Given the description of an element on the screen output the (x, y) to click on. 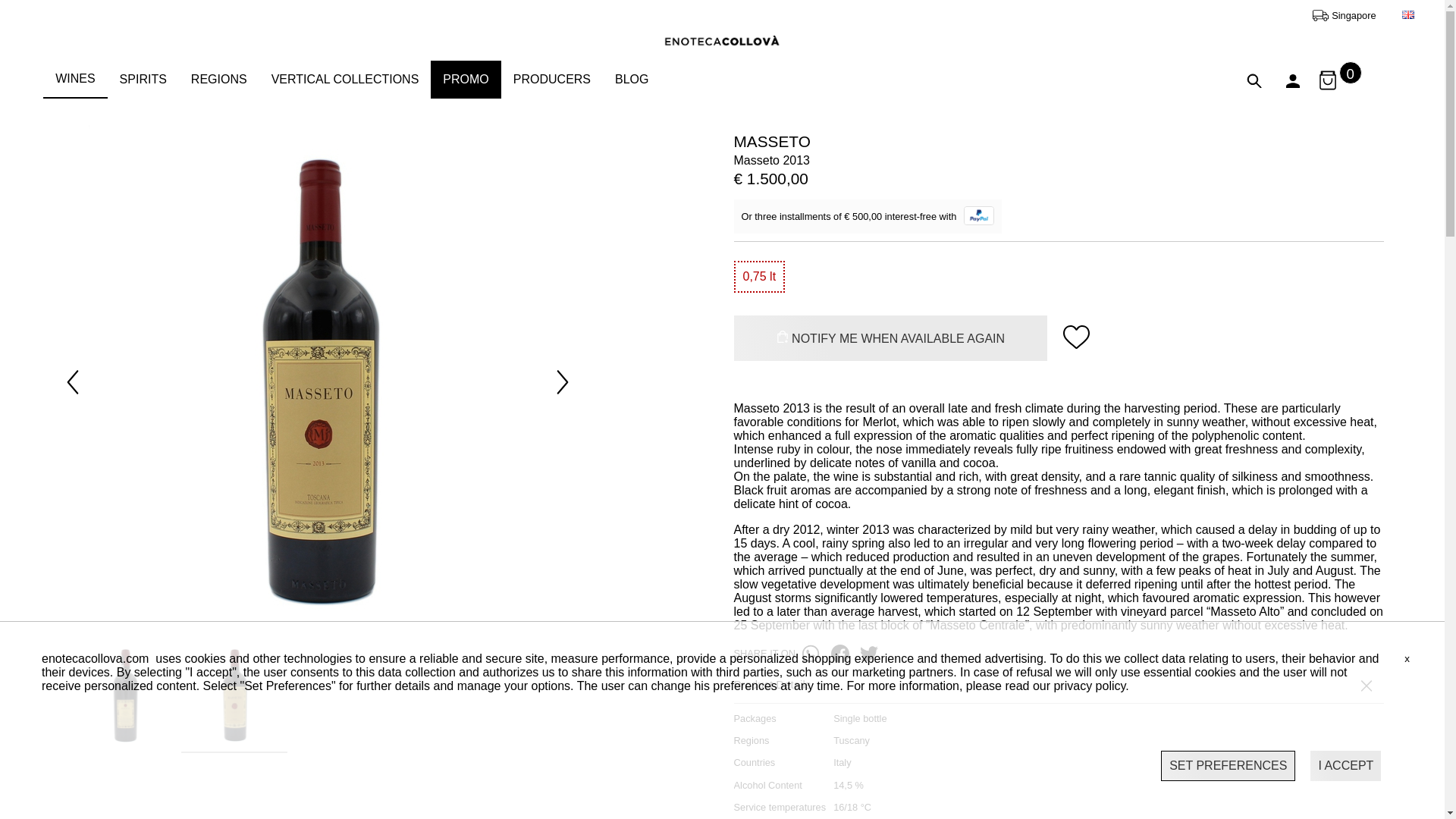
twitter (872, 652)
PayPal (978, 216)
facebook (844, 652)
wishlist (1076, 336)
 Singapore (1356, 14)
peson30Centr (1292, 79)
WINES (74, 79)
whatsapp (814, 652)
cart (1327, 79)
